Given the description of an element on the screen output the (x, y) to click on. 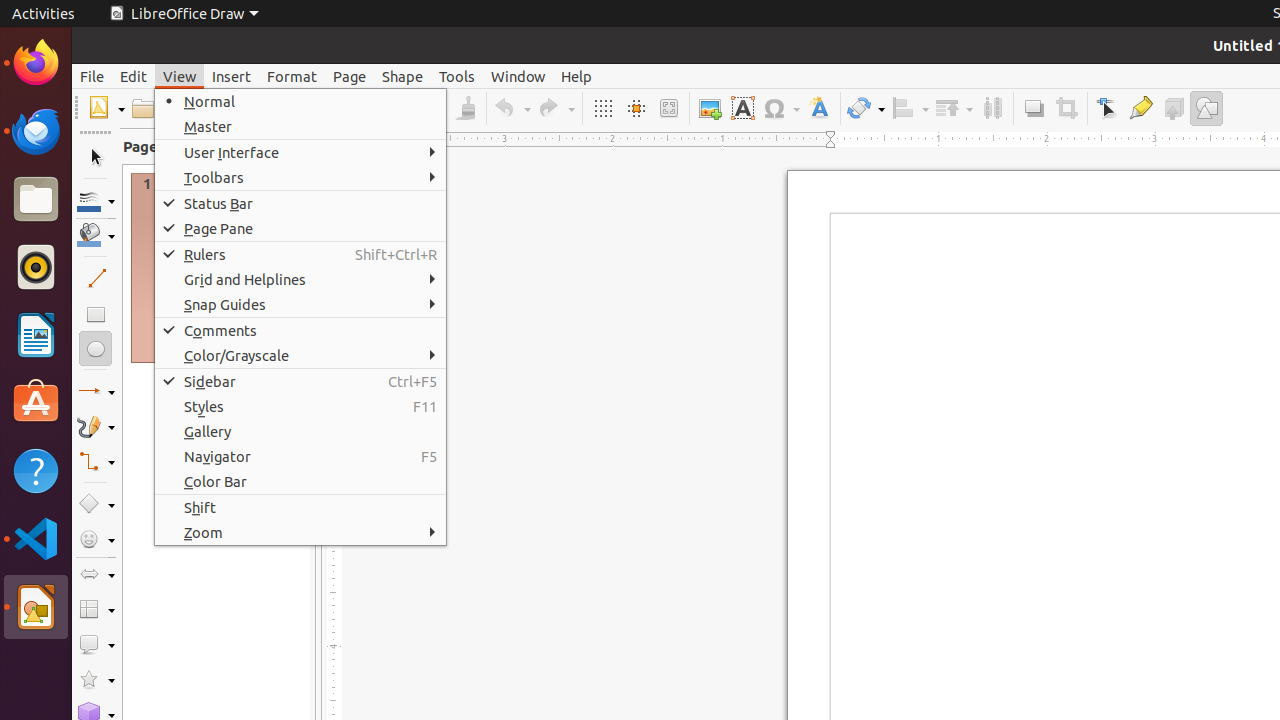
Shift Element type: menu-item (300, 507)
LibreOffice Draw Element type: push-button (36, 607)
Fontwork Style Element type: toggle-button (819, 108)
Helplines While Moving Element type: toggle-button (635, 108)
